Given the description of an element on the screen output the (x, y) to click on. 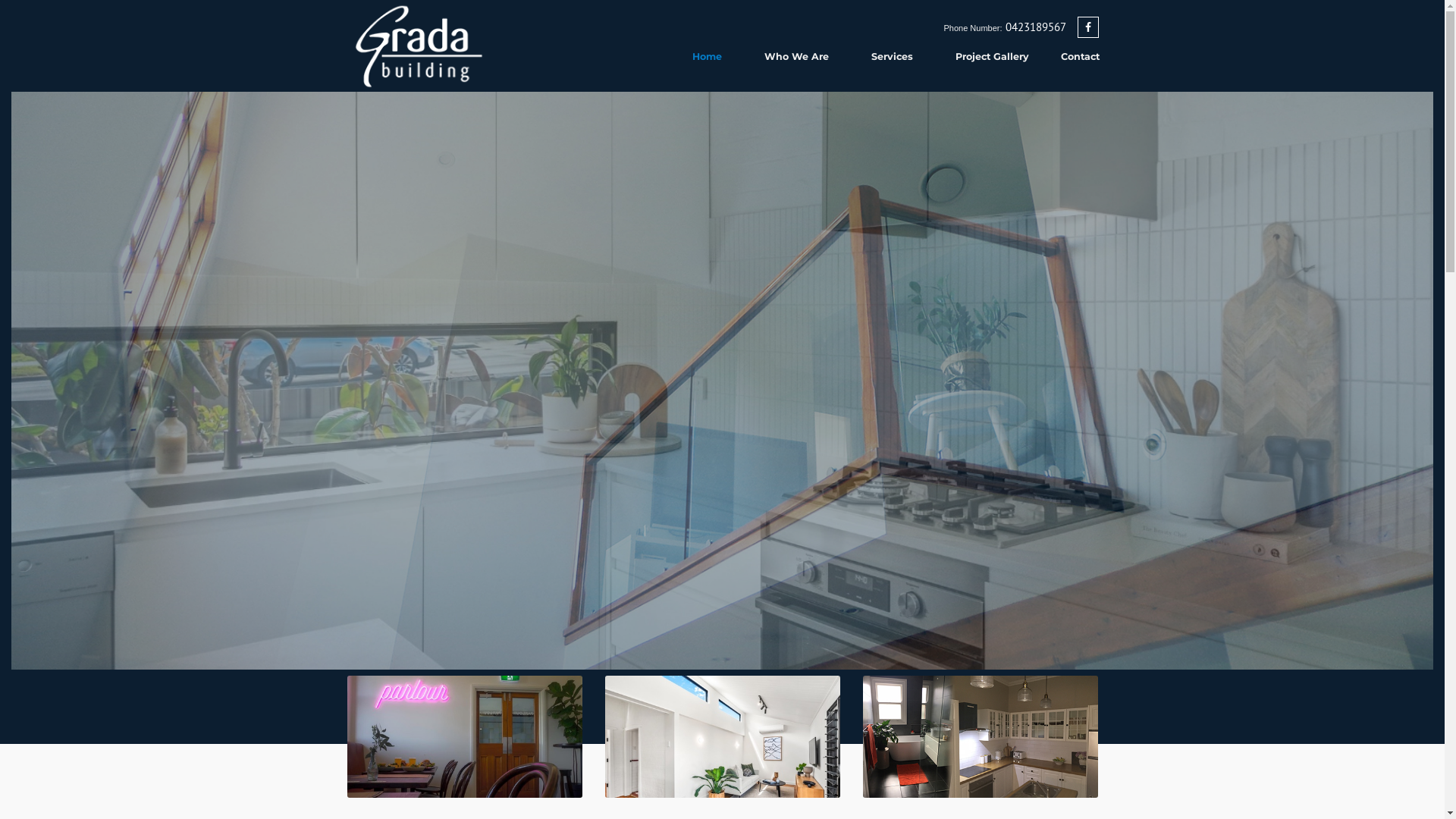
1 Element type: text (682, 693)
Grada Building Element type: hover (418, 44)
0423189567 Element type: text (1035, 26)
Who We Are Element type: text (796, 56)
Project Gallery Element type: text (992, 56)
Contact Element type: text (1079, 56)
Services Element type: text (892, 56)
3 Element type: text (722, 693)
2 Element type: text (702, 693)
Home Element type: text (706, 56)
5 Element type: text (761, 693)
4 Element type: text (742, 693)
